Given the description of an element on the screen output the (x, y) to click on. 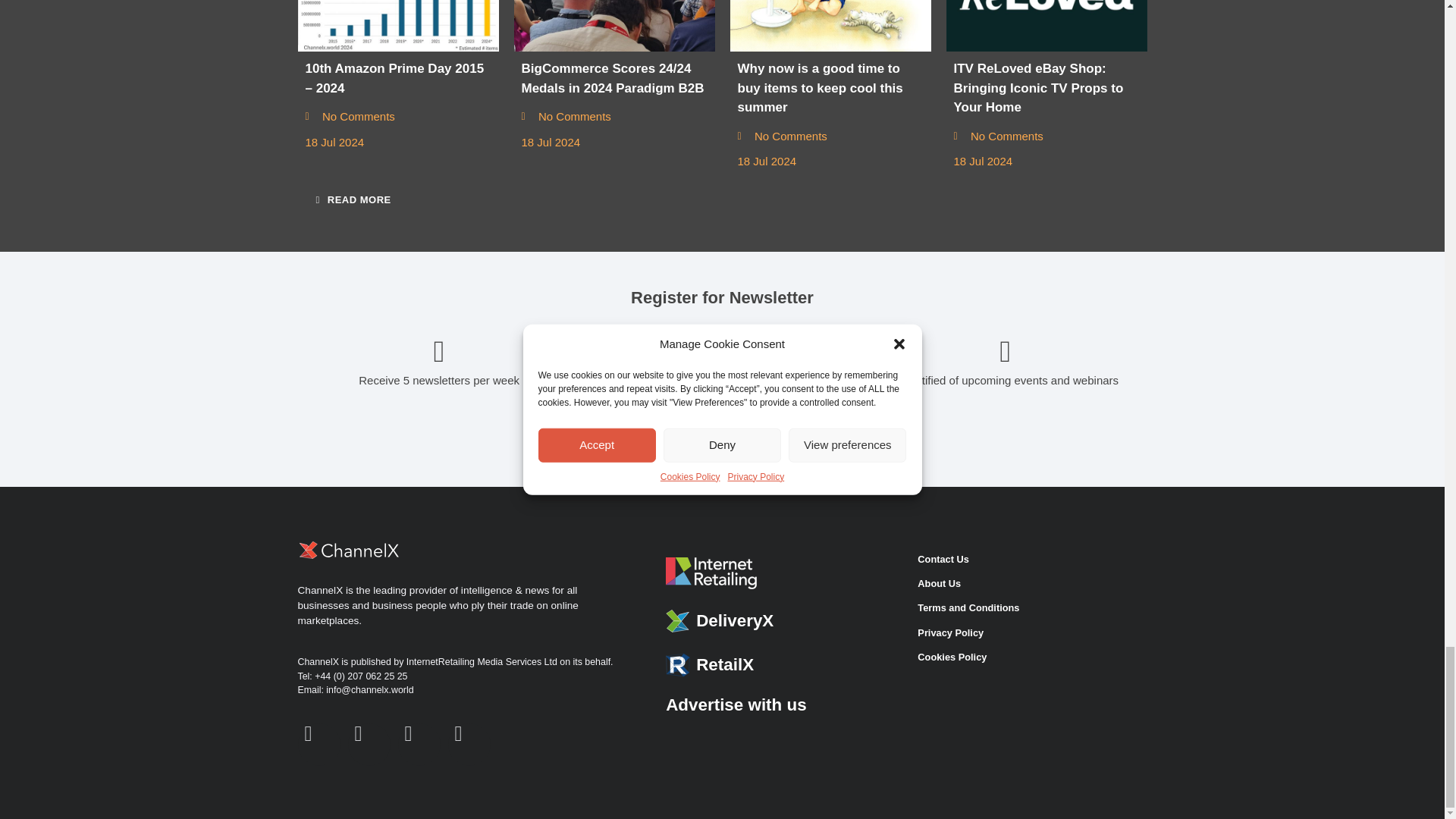
ITV ReLoved eBay Shop: Bringing Iconic TV Props to Your Home (1046, 26)
Why now is a good time to buy items to keep cool this summer (829, 26)
BigCommerce Scores 24 out of 24 Medals in 2024 Paradigm B2B (613, 26)
